Given the description of an element on the screen output the (x, y) to click on. 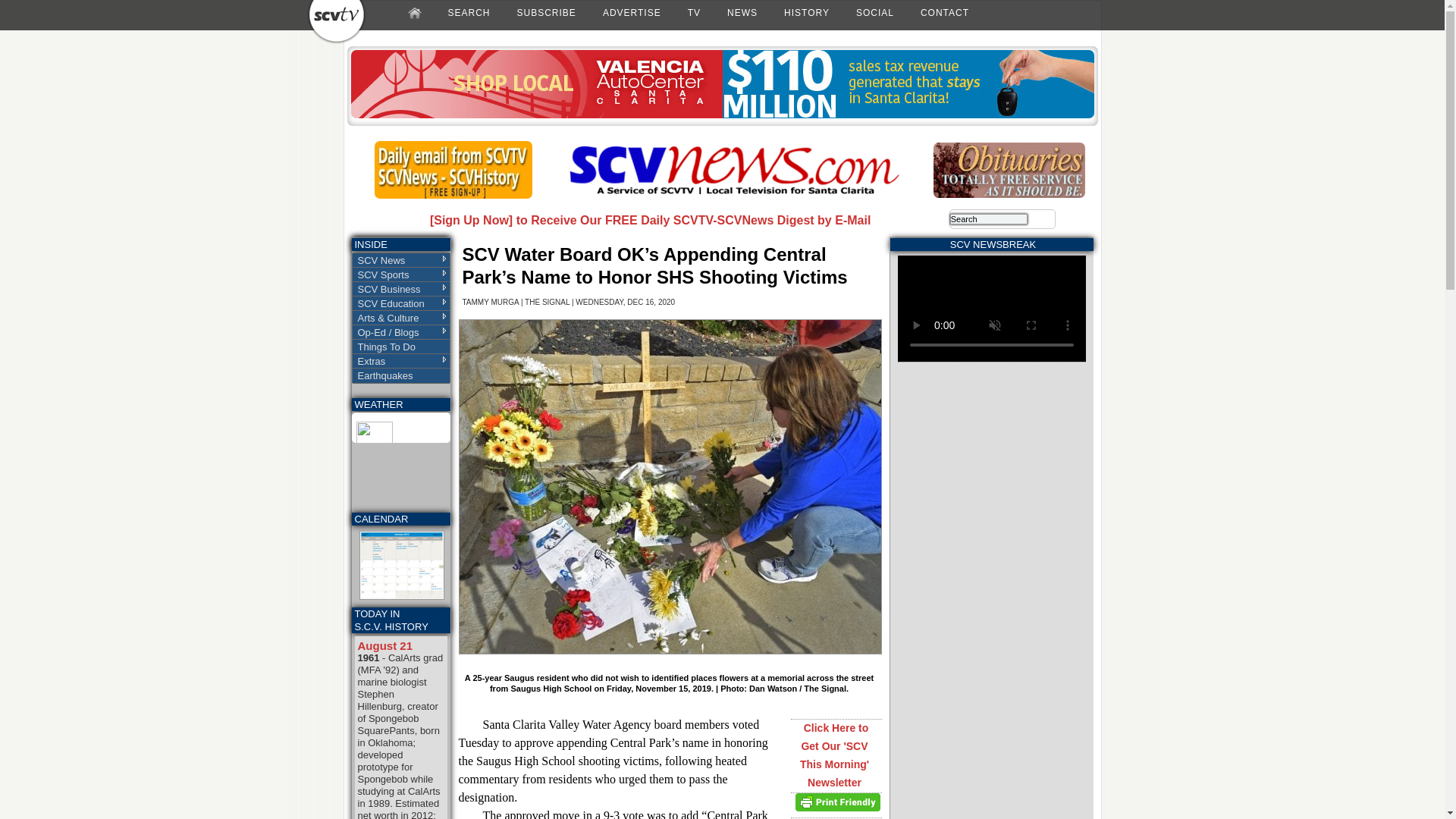
Eletter (453, 195)
SEARCH (468, 12)
Obituaries (1008, 194)
Auto Mall (721, 114)
ADVERTISE (631, 12)
Search (988, 218)
NEWS (742, 12)
SUBSCRIBE (546, 12)
TV (693, 12)
